Given the description of an element on the screen output the (x, y) to click on. 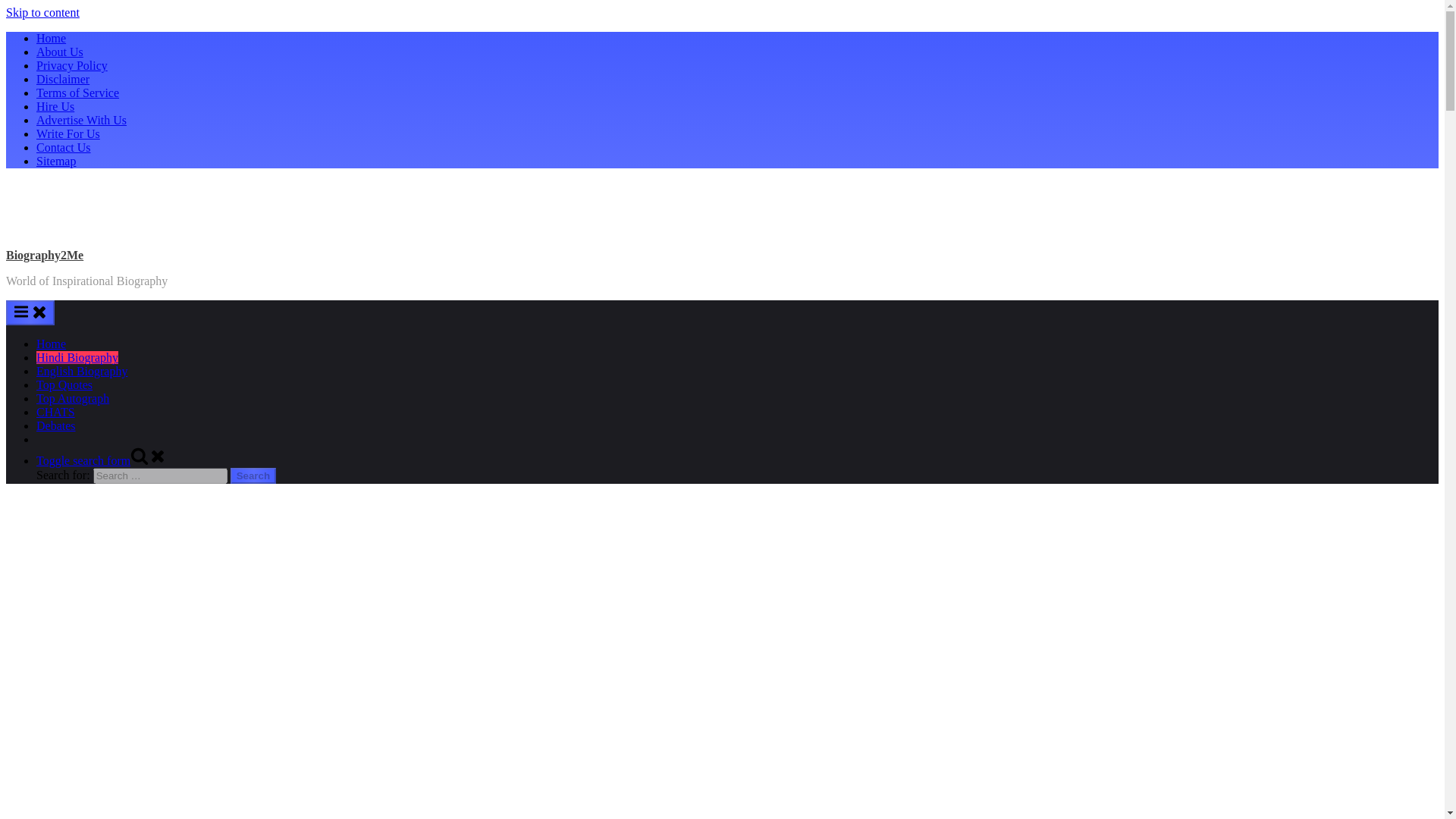
Terms of Service (77, 92)
Disclaimer (62, 78)
Search (253, 475)
Hindi Biography (76, 357)
CHATS (55, 411)
Advertise With Us (81, 119)
Write For Us (68, 133)
Biography2Me (43, 254)
Debates (55, 425)
Home (50, 343)
